Given the description of an element on the screen output the (x, y) to click on. 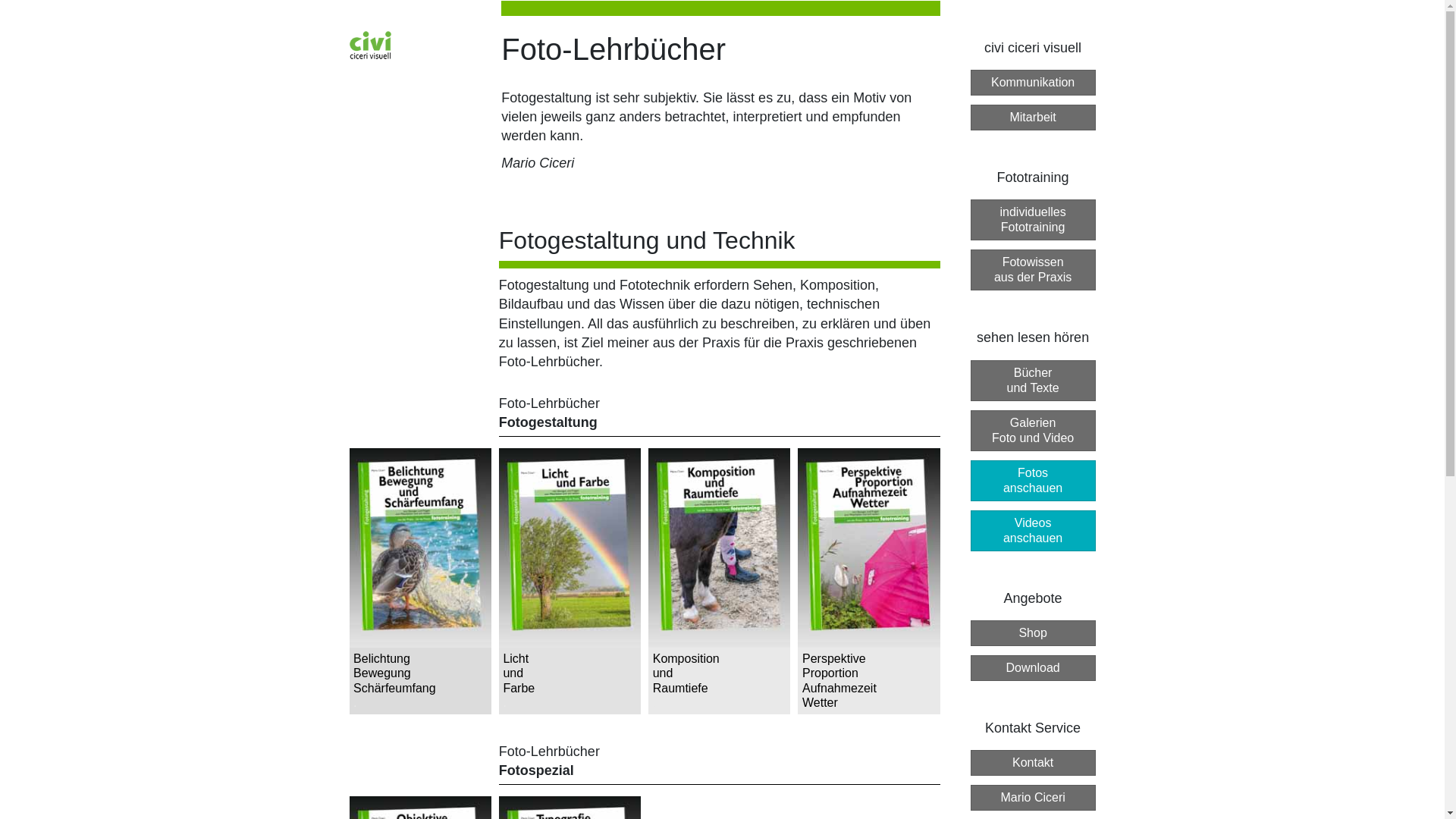
Foto-Lehrbuch Komposition und Raumtiefe Element type: hover (719, 580)
Mario Ciceri Element type: text (1032, 797)
Kontakt Element type: text (1032, 761)
ciceri Element type: hover (369, 45)
individuelles
Fototraining Element type: text (1032, 219)
Galerien
Foto und Video Element type: text (1032, 430)
Foto-Lehrbuch Perspektive Proportion Aufnahmezeit Wetter Element type: hover (868, 580)
individuelles
Fototraining Element type: text (1032, 218)
Mitarbeit Element type: text (1032, 116)
Mario Ciceri Element type: text (1032, 796)
Mitarbeit Element type: text (1032, 117)
Fotowissen
aus der Praxis Element type: text (1032, 268)
Download Element type: text (1032, 667)
Videos
anschauen Element type: text (1032, 530)
Galerien
Foto und Video Element type: text (1032, 428)
Kommunikation Element type: text (1032, 82)
Shop Element type: text (1032, 632)
Fotowissen
aus der Praxis Element type: text (1032, 269)
Videos
anschauen Element type: text (1032, 528)
Fotos
anschauen Element type: text (1032, 478)
Download Element type: text (1032, 666)
Foto-Lehrbuch Licht und Farbe Element type: hover (569, 580)
Fotos
anschauen Element type: text (1032, 480)
Shop Element type: text (1032, 633)
Kommunikation Element type: text (1032, 81)
Kontakt Element type: text (1032, 762)
